Given the description of an element on the screen output the (x, y) to click on. 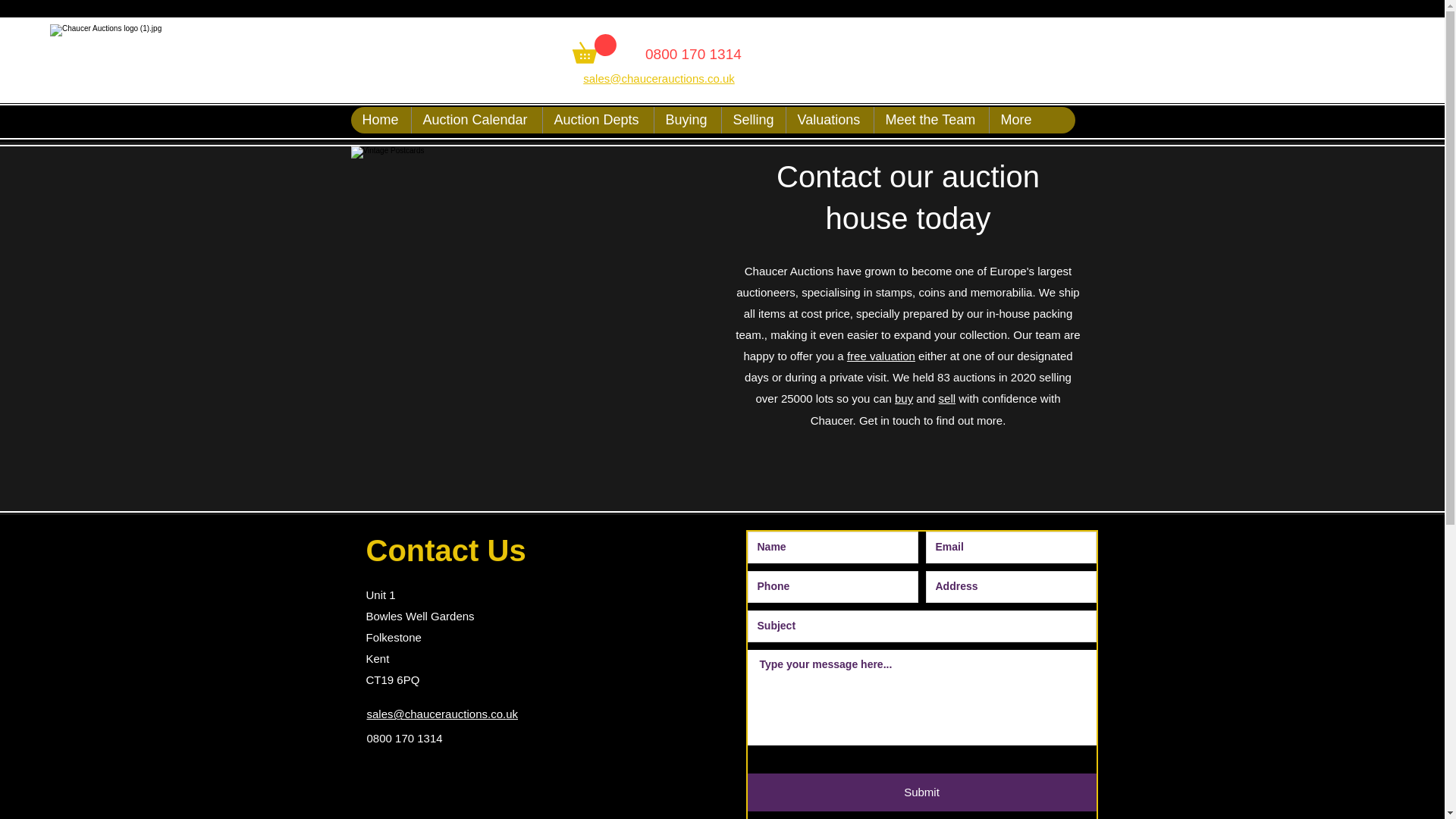
buy (903, 398)
Auction Calendar (475, 120)
Submit (922, 792)
Auction Depts (596, 120)
Selling (752, 120)
Meet the Team (930, 120)
Valuations (829, 120)
Home (380, 120)
sell (947, 398)
Buying (686, 120)
